Given the description of an element on the screen output the (x, y) to click on. 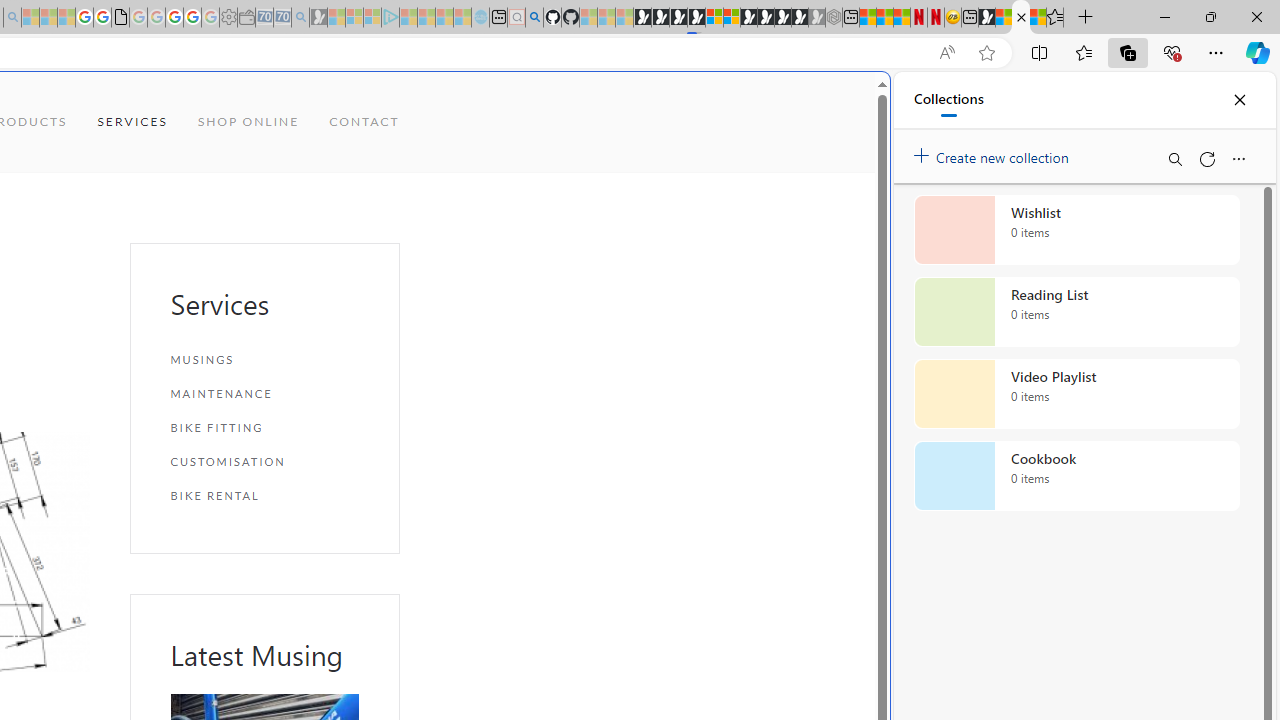
Wishlist collection, 0 items (1076, 229)
